Given the description of an element on the screen output the (x, y) to click on. 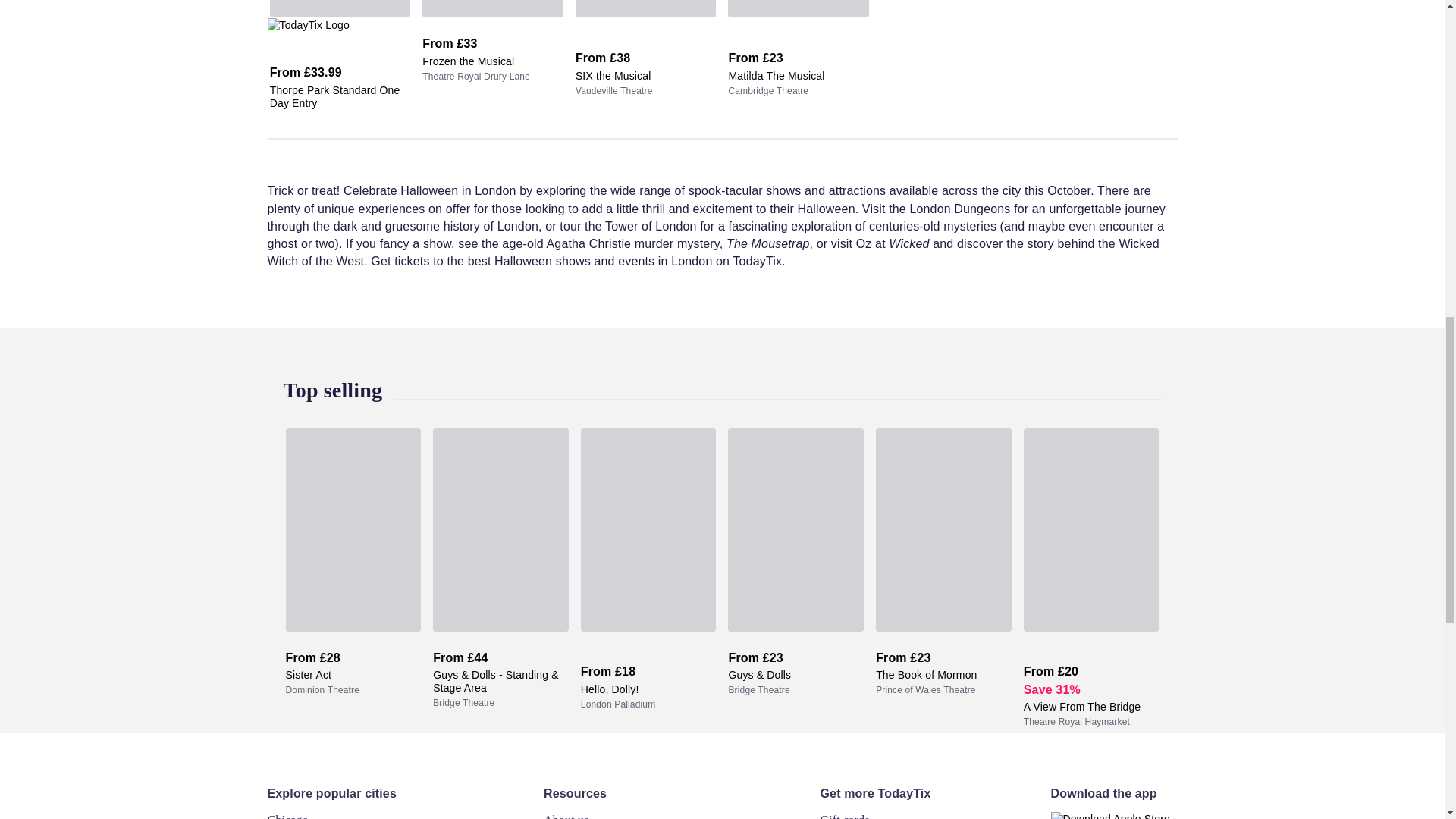
Gift cards (845, 816)
Chicago (286, 816)
About us (565, 816)
